Given the description of an element on the screen output the (x, y) to click on. 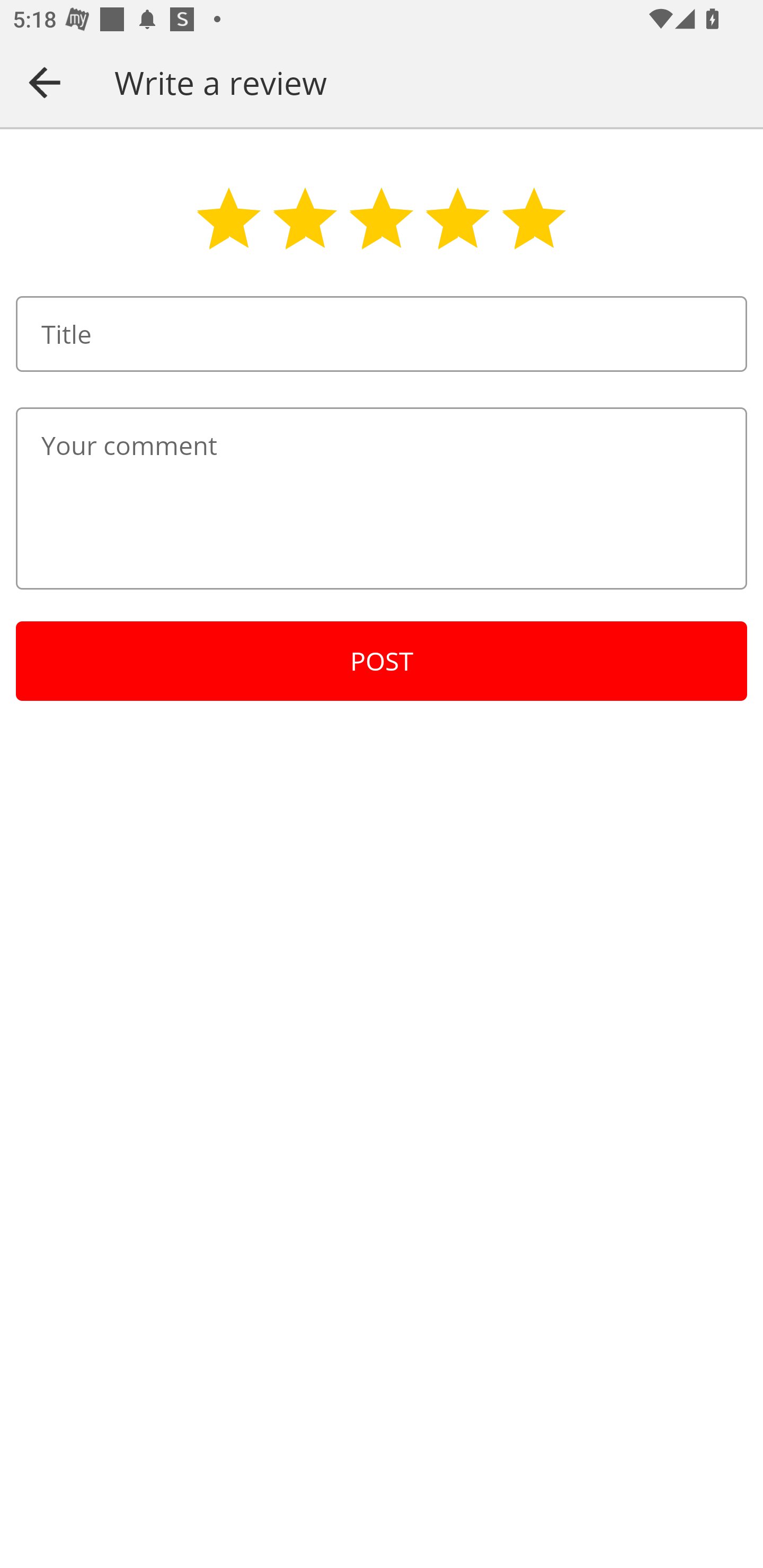
Navigate up (44, 82)
Title (381, 333)
Your comment (381, 498)
POST (381, 660)
